Given the description of an element on the screen output the (x, y) to click on. 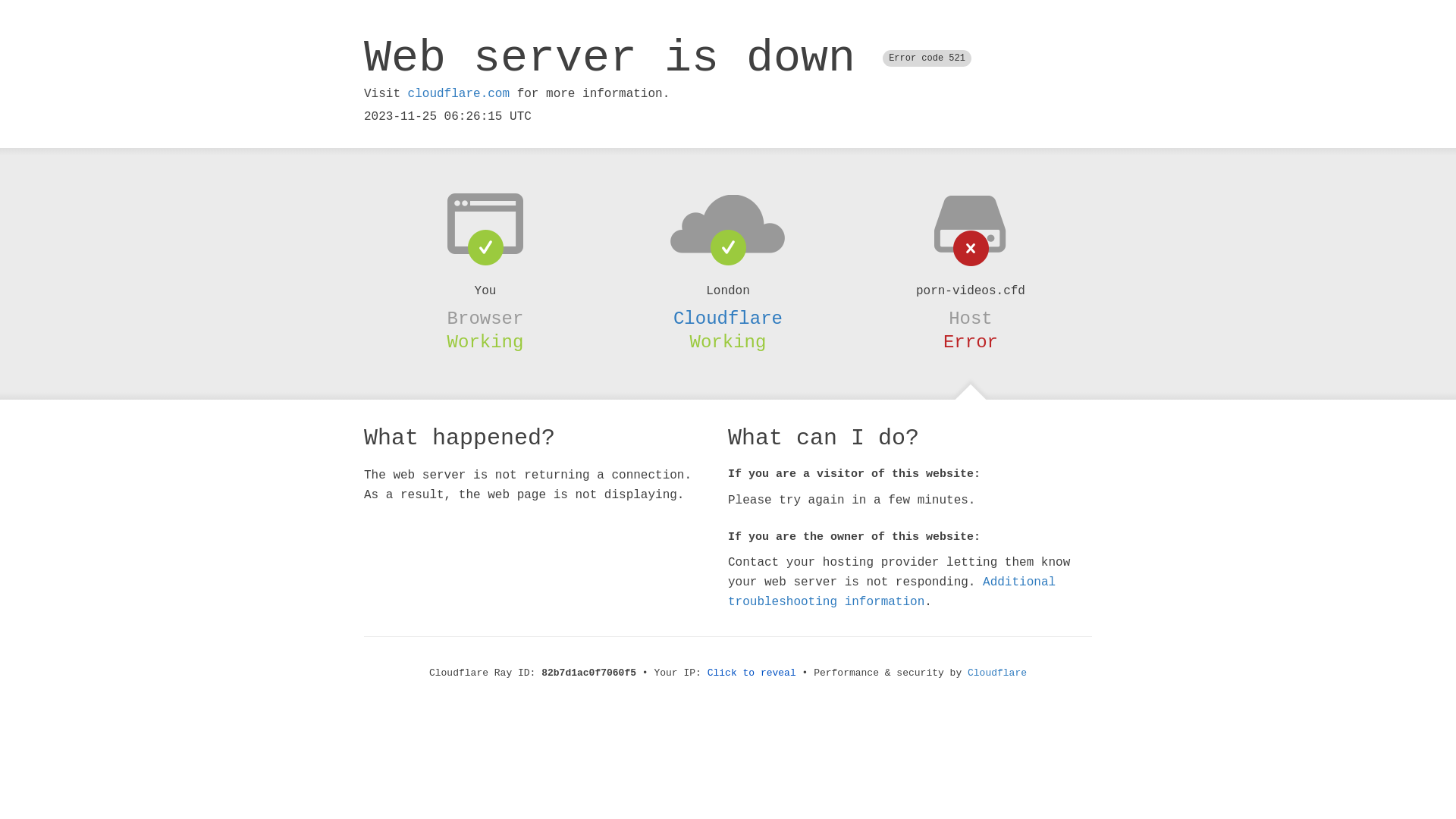
Cloudflare Element type: text (727, 318)
Click to reveal Element type: text (751, 672)
Cloudflare Element type: text (996, 672)
Additional troubleshooting information Element type: text (891, 591)
cloudflare.com Element type: text (458, 93)
